Given the description of an element on the screen output the (x, y) to click on. 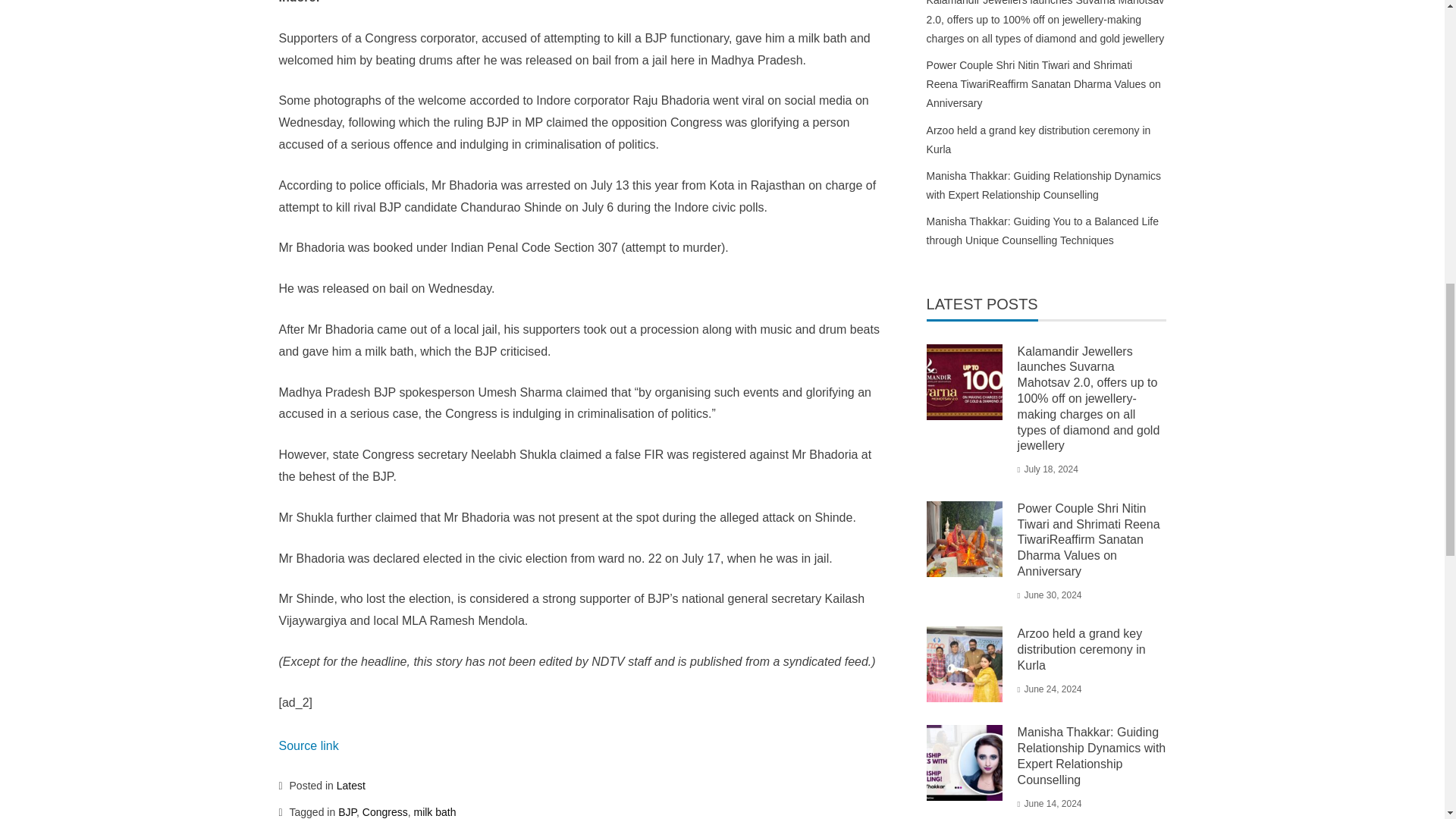
BJP (346, 811)
Arzoo held a grand key distribution ceremony in Kurla (1038, 139)
Congress (384, 811)
milk bath (434, 811)
Latest (350, 785)
Source link (309, 745)
Arzoo held a grand key distribution ceremony in Kurla (1081, 649)
